Given the description of an element on the screen output the (x, y) to click on. 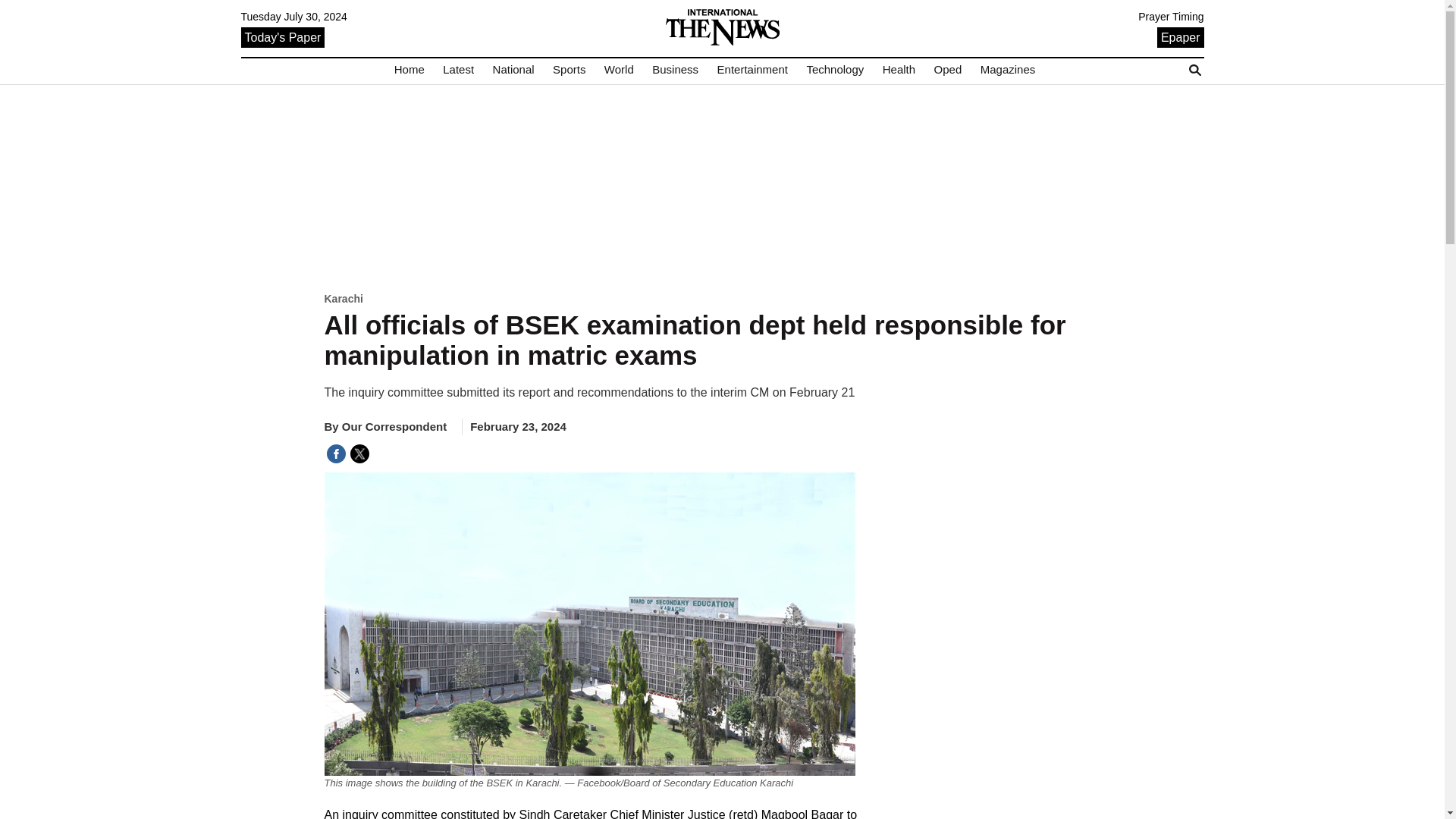
Epaper (1180, 37)
Technology (833, 69)
Prayer Timing (1171, 16)
Sports (568, 69)
Business (675, 69)
Today's Paper (282, 37)
Health (899, 69)
Entertainment (752, 69)
Latest (458, 69)
Home (409, 69)
3rd party ad content (721, 186)
World (619, 69)
National (512, 69)
